Given the description of an element on the screen output the (x, y) to click on. 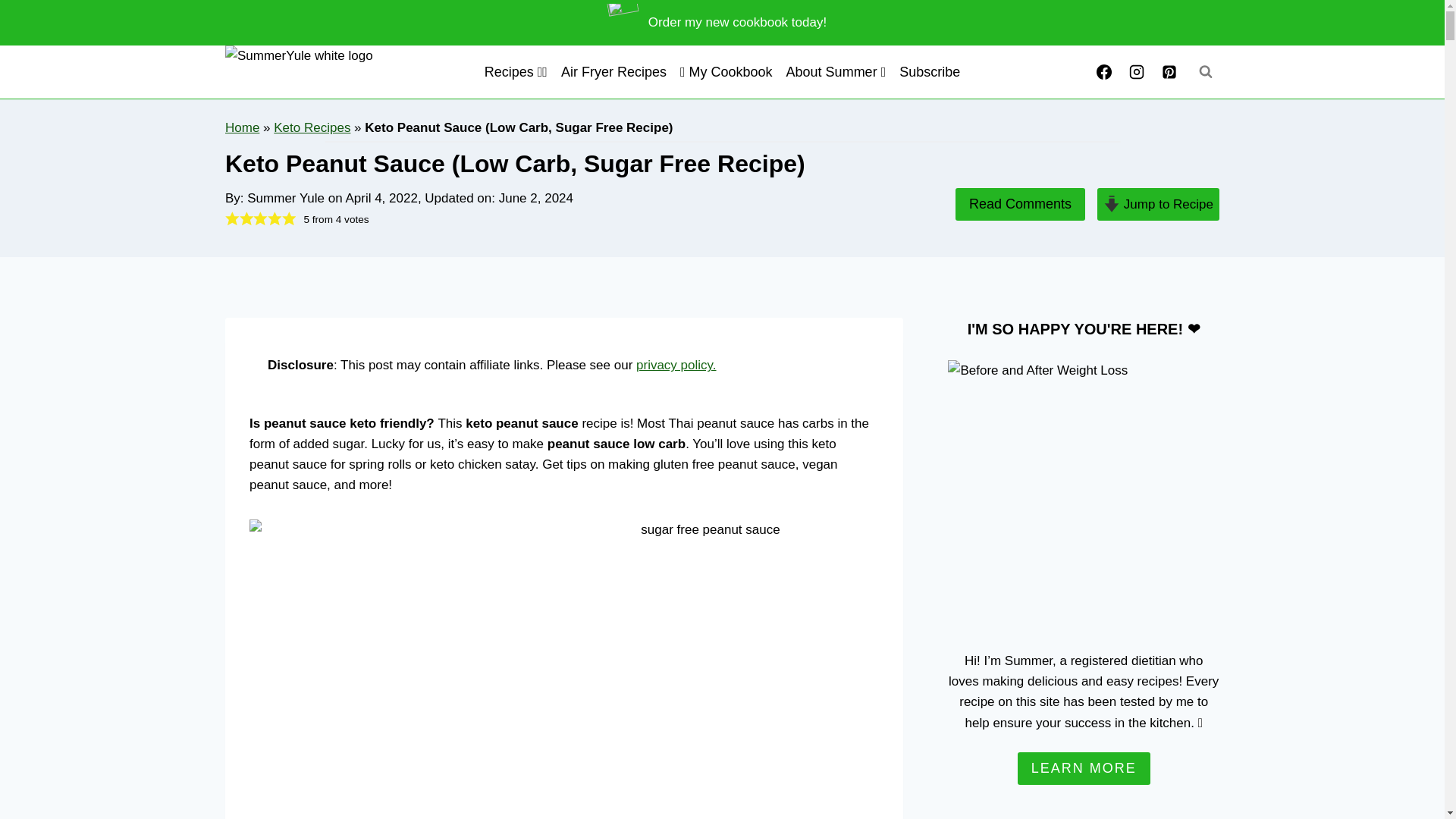
Home (242, 127)
Jump to Recipe (1158, 204)
privacy policy. (676, 364)
Keto Recipes (311, 127)
Subscribe (929, 71)
Air Fryer Recipes (613, 71)
Jump to Recipe (1158, 204)
Read Comments (1019, 204)
